Given the description of an element on the screen output the (x, y) to click on. 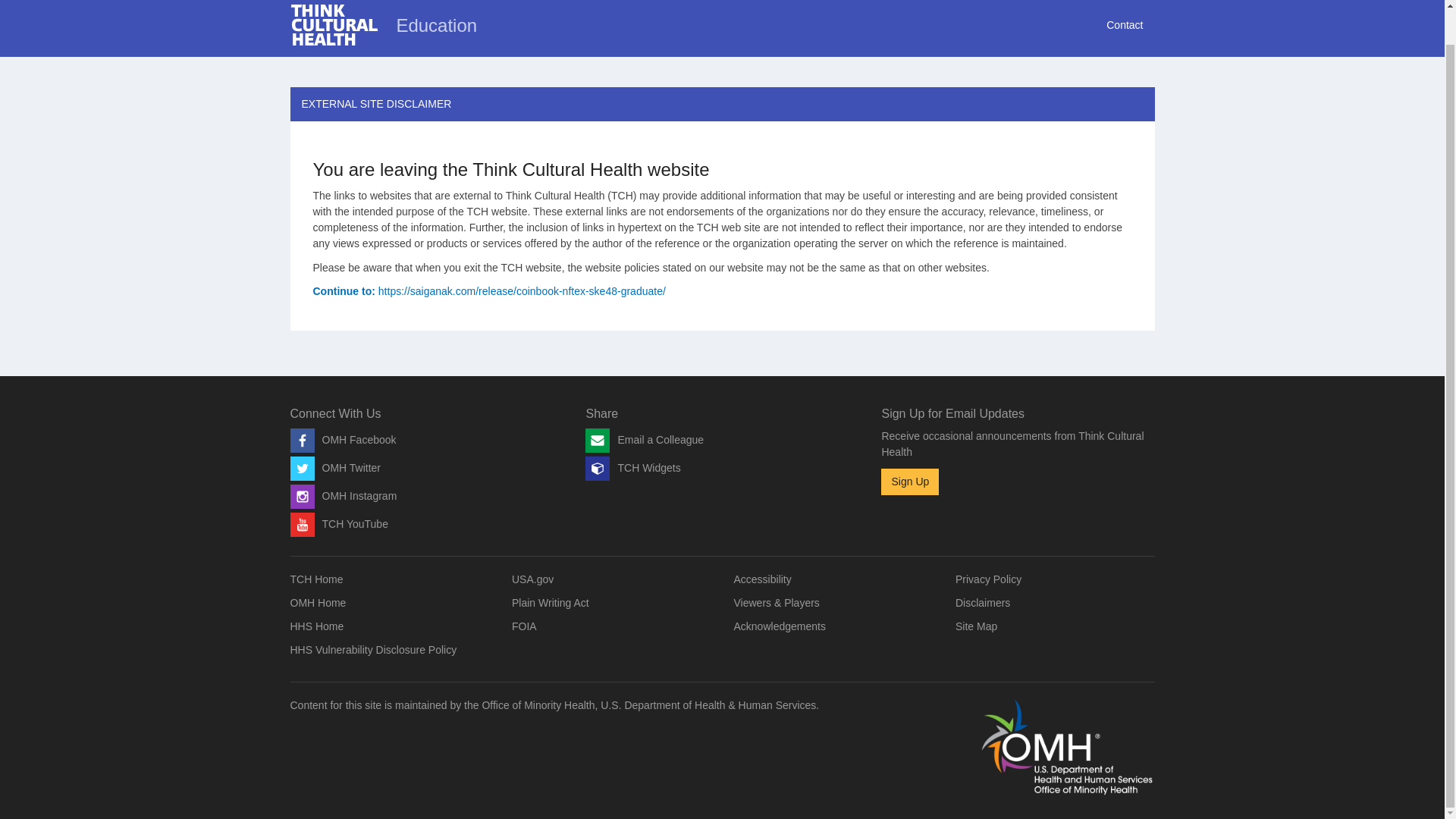
Email a Colleague (644, 439)
USA.gov (532, 579)
Acknowledgements (779, 625)
Contact (1124, 28)
Sign Up (909, 481)
Accessibility (762, 579)
Think Cultural Health (333, 24)
Site Map (976, 625)
Plain Writing Act (550, 603)
TCH YouTube (338, 523)
HHS Vulnerability Disclosure Policy (373, 649)
OMH Instagram (342, 495)
TCH Widgets (632, 467)
OMH Twitter (334, 467)
FOIA (524, 625)
